Given the description of an element on the screen output the (x, y) to click on. 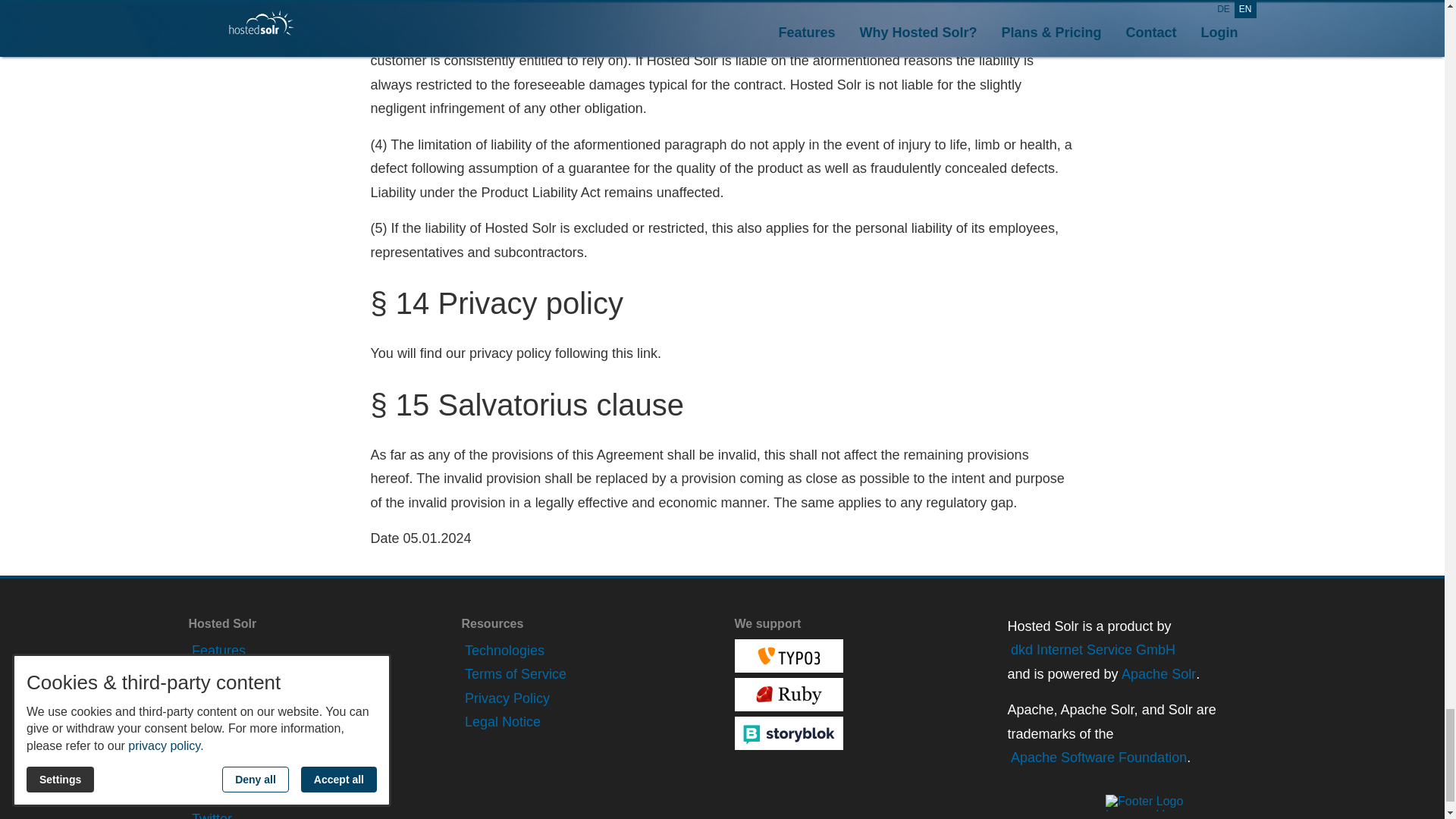
Find out more about Storyblok! (788, 732)
Apache Solr (1157, 674)
storyblok (788, 732)
Technologies (502, 650)
typo3 (788, 654)
Privacy Policy (505, 699)
ruby (788, 694)
Legal Notice (500, 722)
Find out more about Ruby now! (788, 694)
Terms of Service (513, 674)
FAQ (203, 794)
dkd Internet Service GmbH (1090, 650)
Apache Software Foundation (1096, 758)
Why Hosted Solr? (244, 674)
Find out more about TYPO3 now! (788, 654)
